Given the description of an element on the screen output the (x, y) to click on. 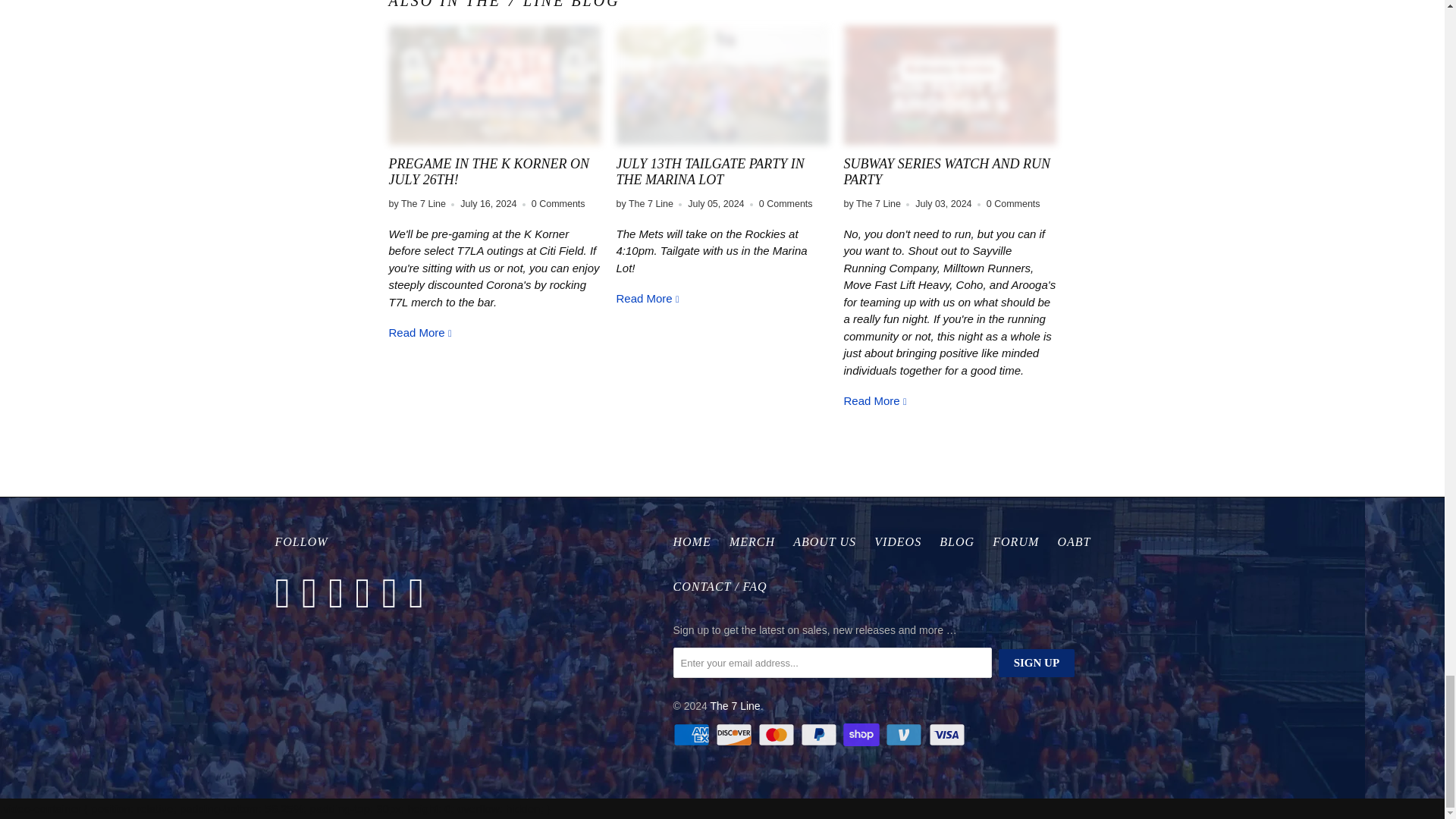
Subway Series Watch and Run Party (946, 172)
July 13th Tailgate Party In The Marina Lot (709, 172)
July 13th Tailgate Party In The Marina Lot (647, 297)
July 13th Tailgate Party In The Marina Lot (721, 84)
Pregame in the K Korner on July 26th! (420, 332)
Subway Series Watch and Run Party (949, 84)
Sign Up (1036, 663)
Pregame in the K Korner on July 26th! (488, 172)
Pregame in the K Korner on July 26th! (493, 84)
Subway Series Watch and Run Party (875, 400)
